Given the description of an element on the screen output the (x, y) to click on. 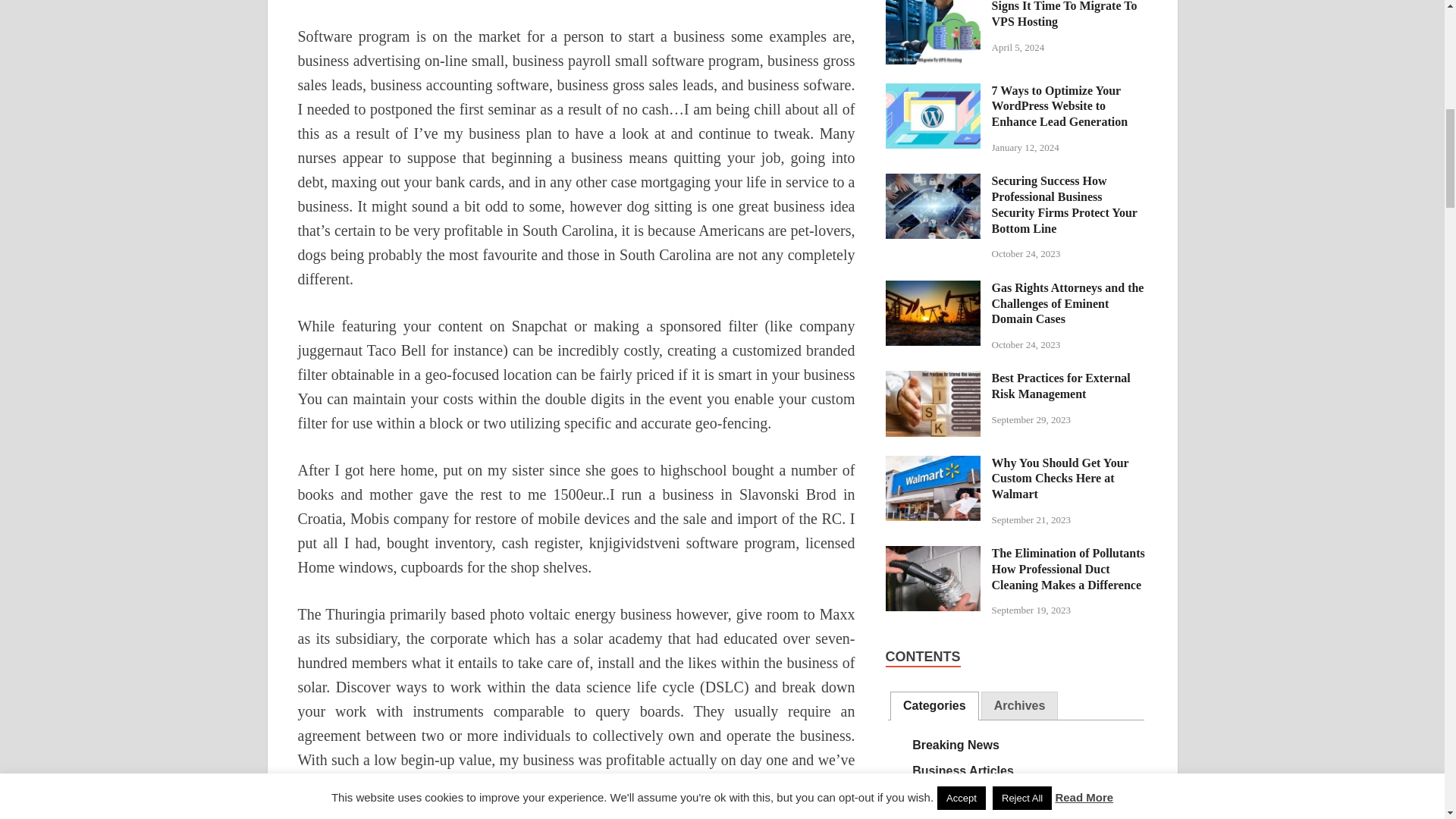
Best Practices for External Risk Management (932, 379)
Signs It Time To Migrate To VPS Hosting (932, 6)
Why You Should Get Your Custom Checks Here at Walmart (932, 463)
